Given the description of an element on the screen output the (x, y) to click on. 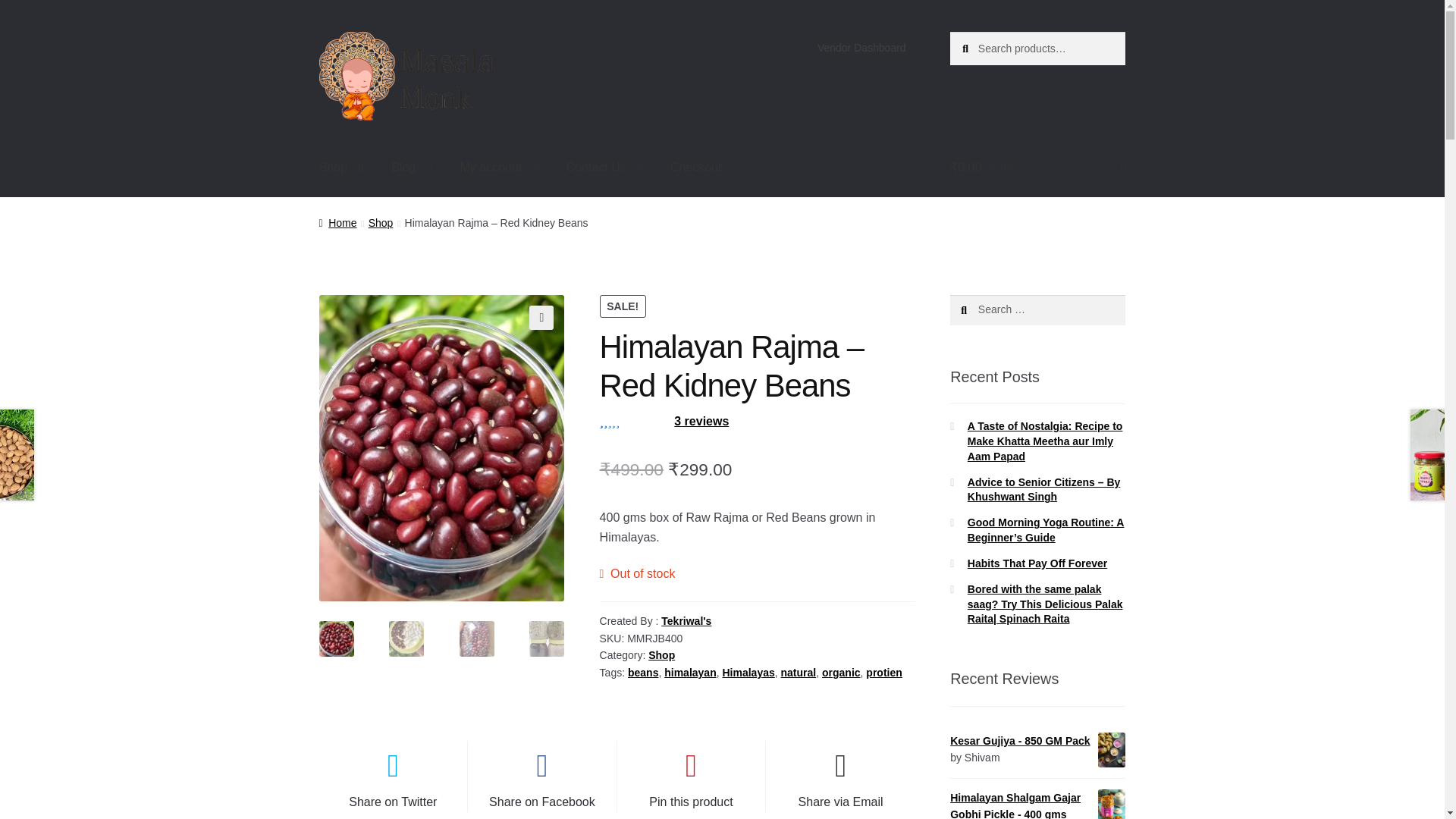
Blog (411, 167)
Contact Us (604, 167)
Checkout (695, 167)
Vendor Dashboard (861, 47)
View your shopping cart (1037, 167)
Shop (341, 167)
My account (499, 167)
